Given the description of an element on the screen output the (x, y) to click on. 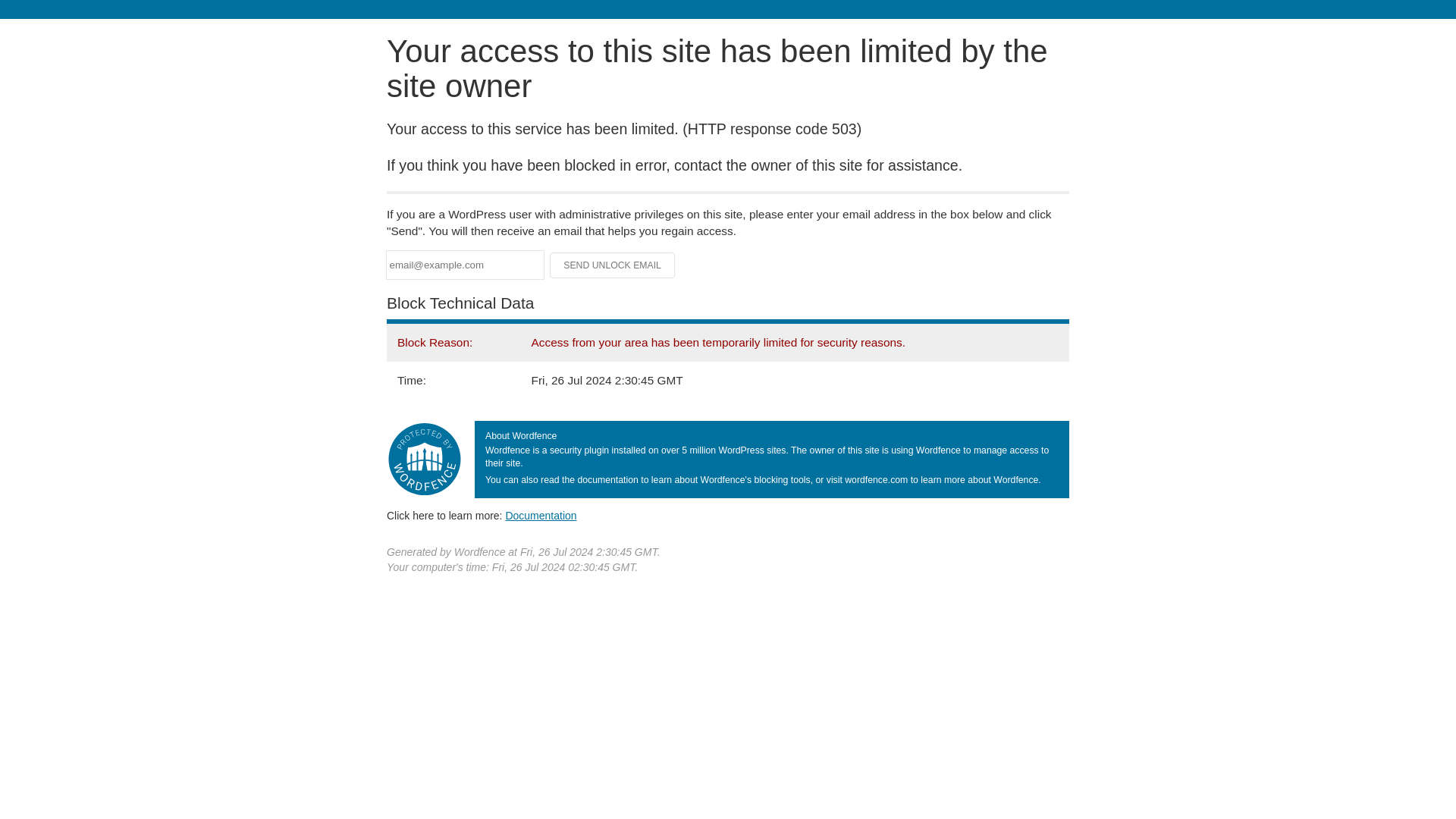
Send Unlock Email (612, 265)
Documentation (540, 515)
Send Unlock Email (612, 265)
